Given the description of an element on the screen output the (x, y) to click on. 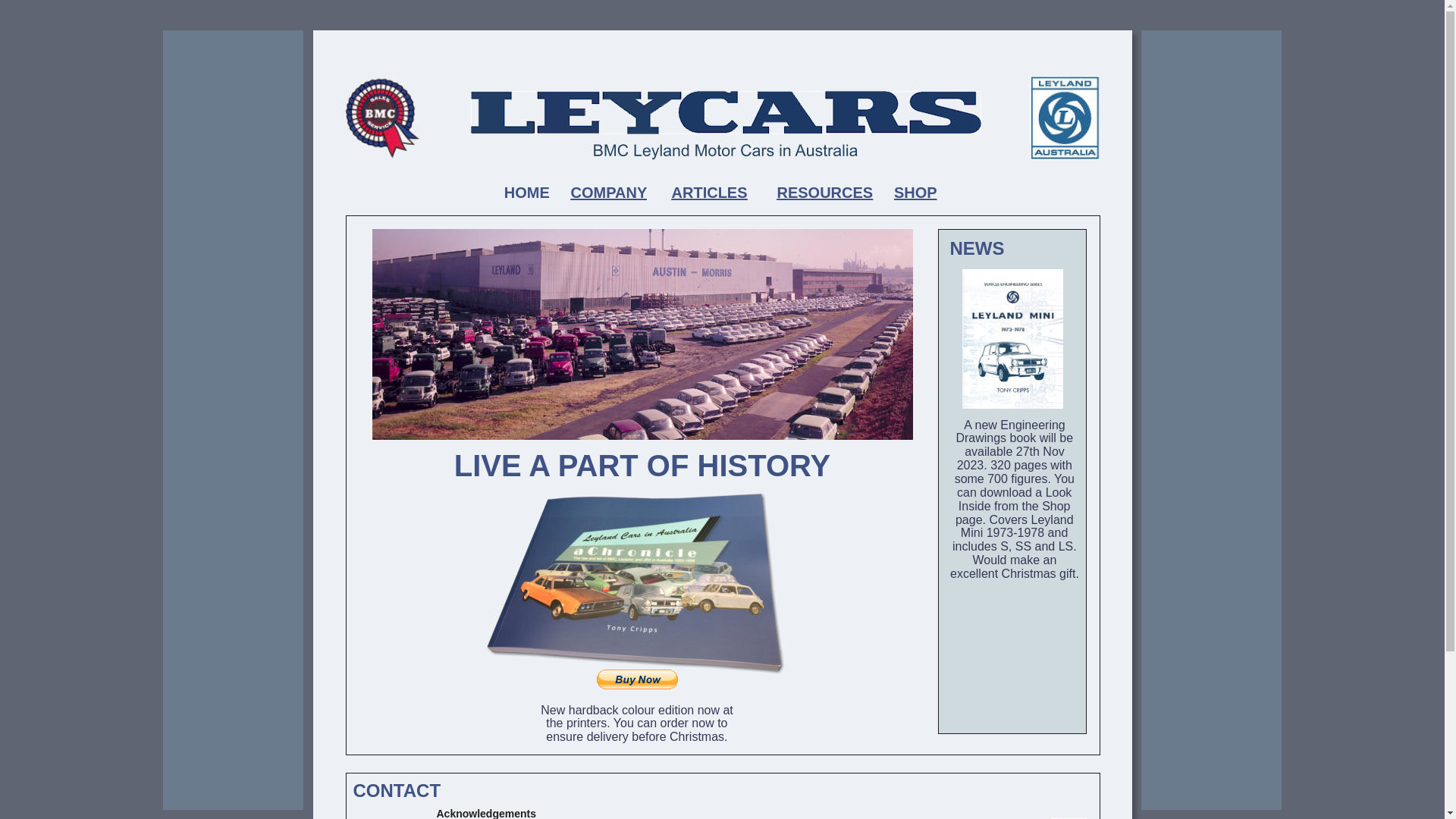
COMPANY Element type: text (608, 192)
ARTICLES Element type: text (709, 192)
SHOP Element type: text (915, 192)
RESOURCES Element type: text (824, 192)
